Given the description of an element on the screen output the (x, y) to click on. 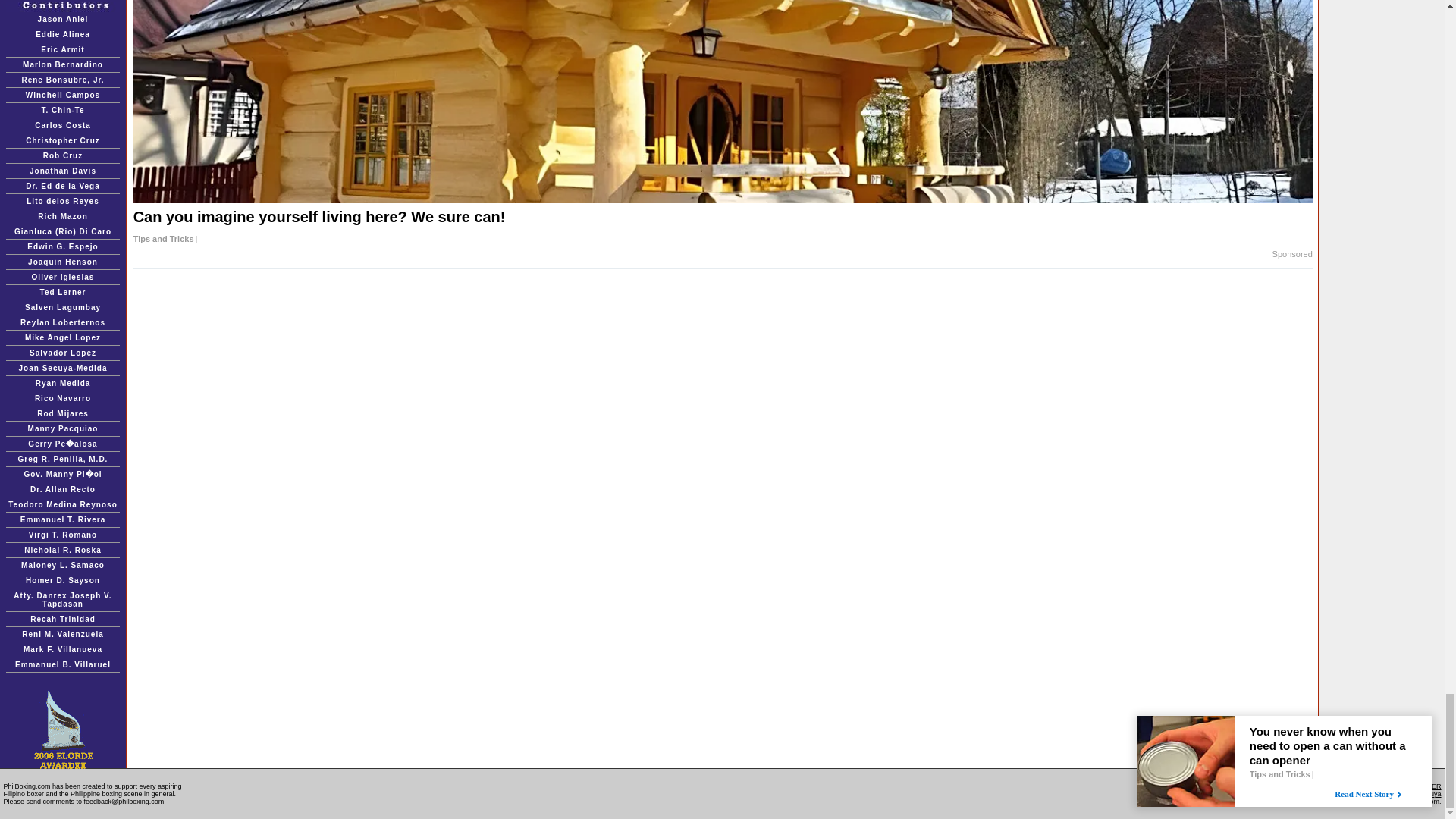
Joan Secuya-Medida (62, 367)
Oliver Iglesias (63, 276)
Reylan Loberternos (62, 322)
Rod Mijares (62, 413)
Jonathan Davis (62, 171)
Eddie Alinea (62, 34)
Eric Armit (62, 49)
Edwin G. Espejo (62, 246)
Salvador Lopez (62, 352)
Dr. Allan Recto (63, 489)
Rico Navarro (62, 397)
Ted Lerner (62, 292)
Salven Lagumbay (62, 307)
Rich Mazon (62, 216)
Christopher Cruz (63, 140)
